Given the description of an element on the screen output the (x, y) to click on. 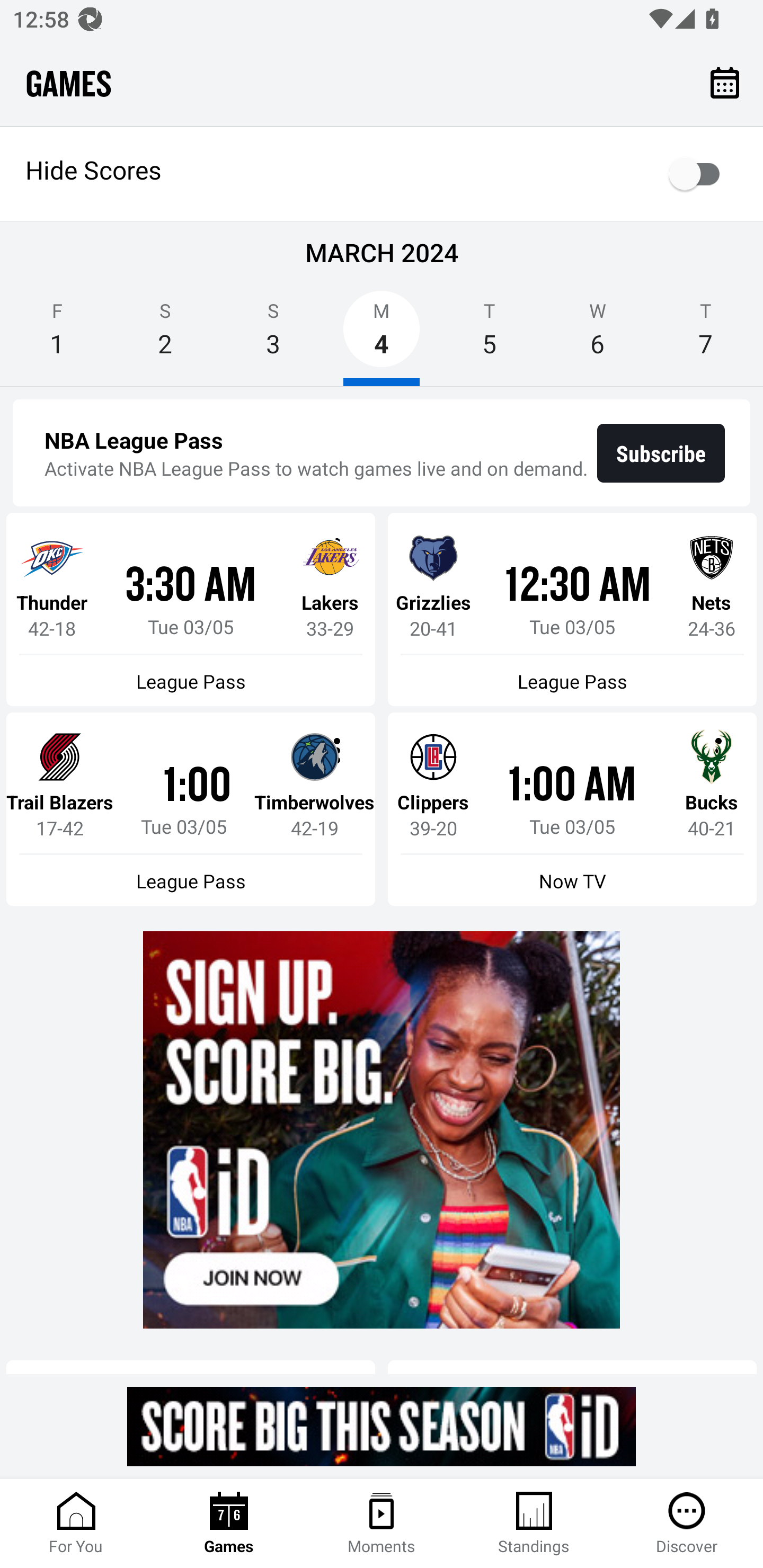
Calendar (724, 81)
Hide Scores (381, 174)
F 1 (57, 334)
S 2 (165, 334)
S 3 (273, 334)
M 4 (381, 334)
T 5 (489, 334)
W 6 (597, 334)
T 7 (705, 334)
Subscribe (660, 452)
For You (76, 1523)
Moments (381, 1523)
Standings (533, 1523)
Discover (686, 1523)
